Given the description of an element on the screen output the (x, y) to click on. 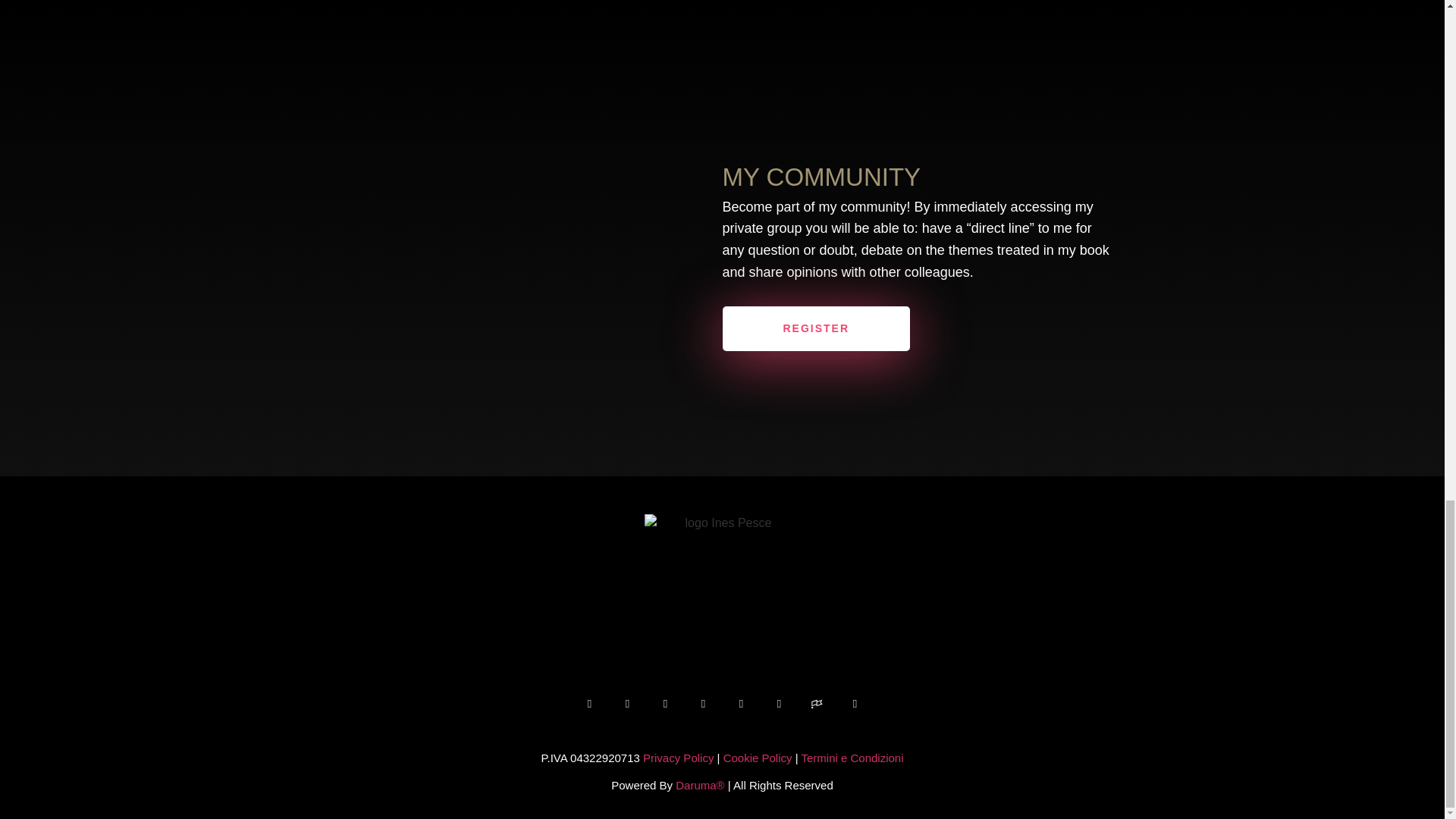
REGISTER (816, 328)
Termini e Condizioni (851, 757)
Cookie Policy (757, 757)
